Given the description of an element on the screen output the (x, y) to click on. 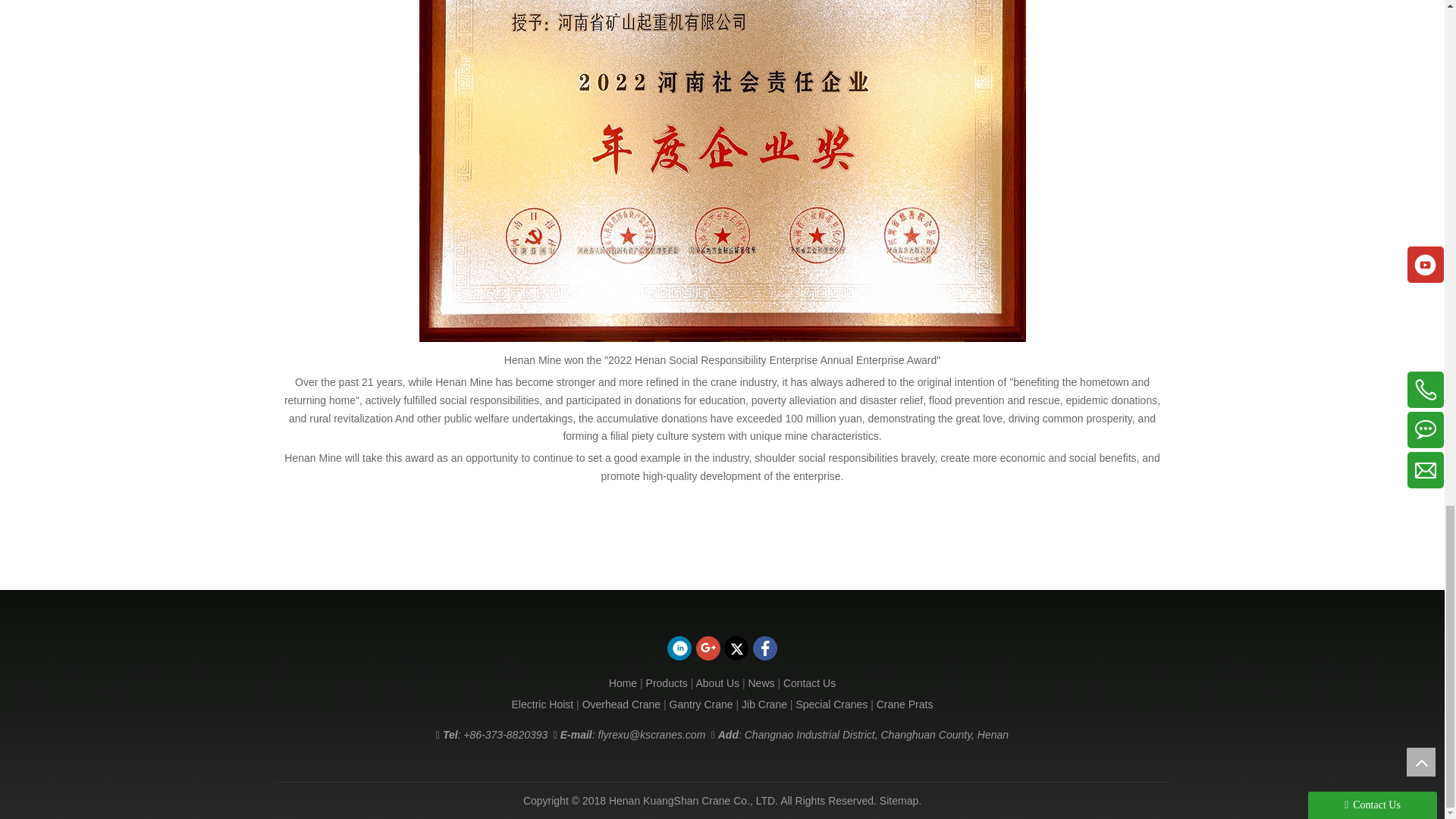
Overhead Crane (621, 704)
Contact Us (809, 683)
Electric Hoist (542, 704)
Products (666, 683)
Linkedin (678, 648)
Gantry Crane (701, 704)
About Us (717, 683)
News (761, 683)
Twitter (735, 648)
Home (622, 683)
Facebook (764, 648)
